Given the description of an element on the screen output the (x, y) to click on. 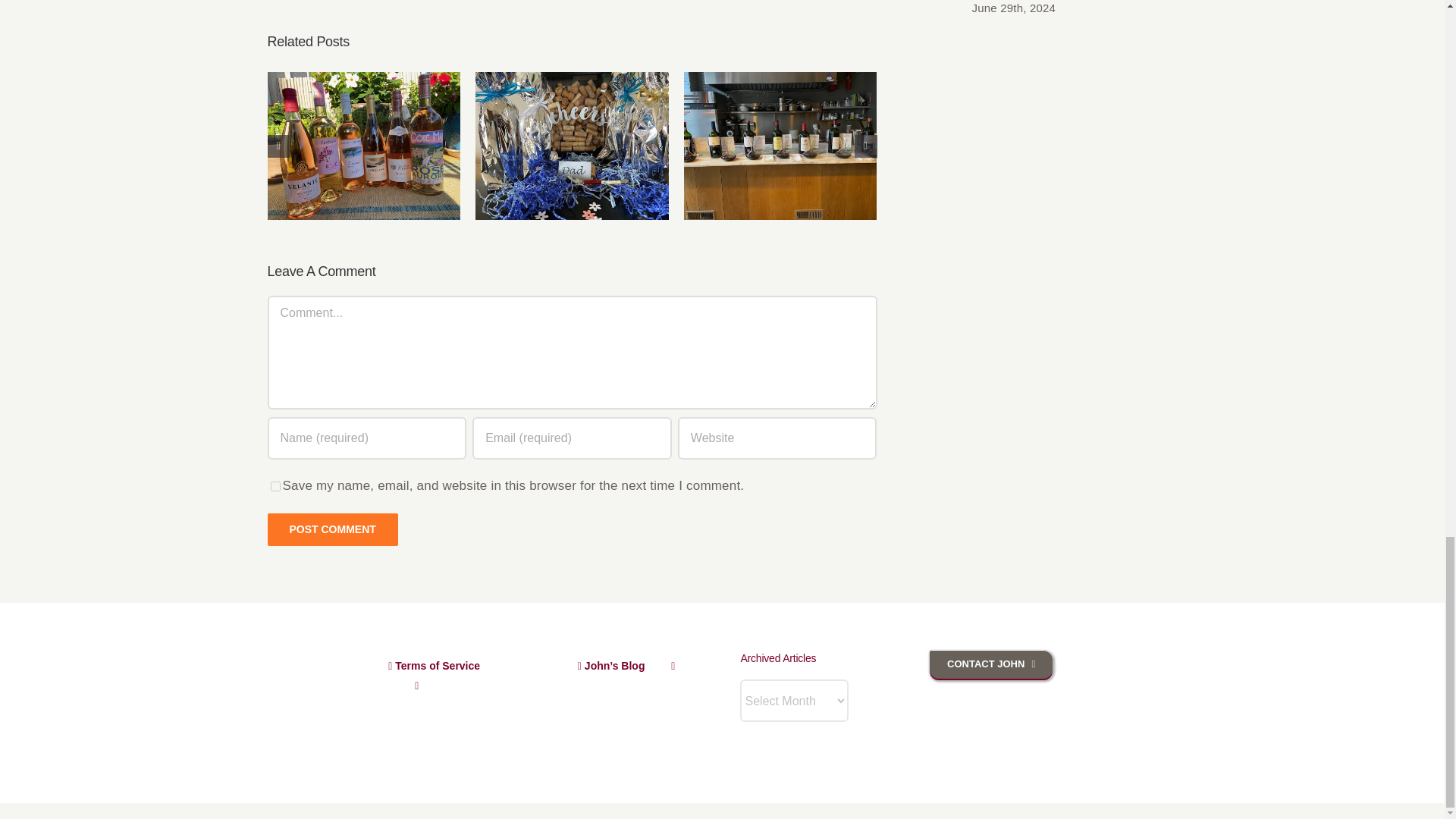
Post Comment (331, 529)
Contact us (991, 664)
yes (274, 486)
